Given the description of an element on the screen output the (x, y) to click on. 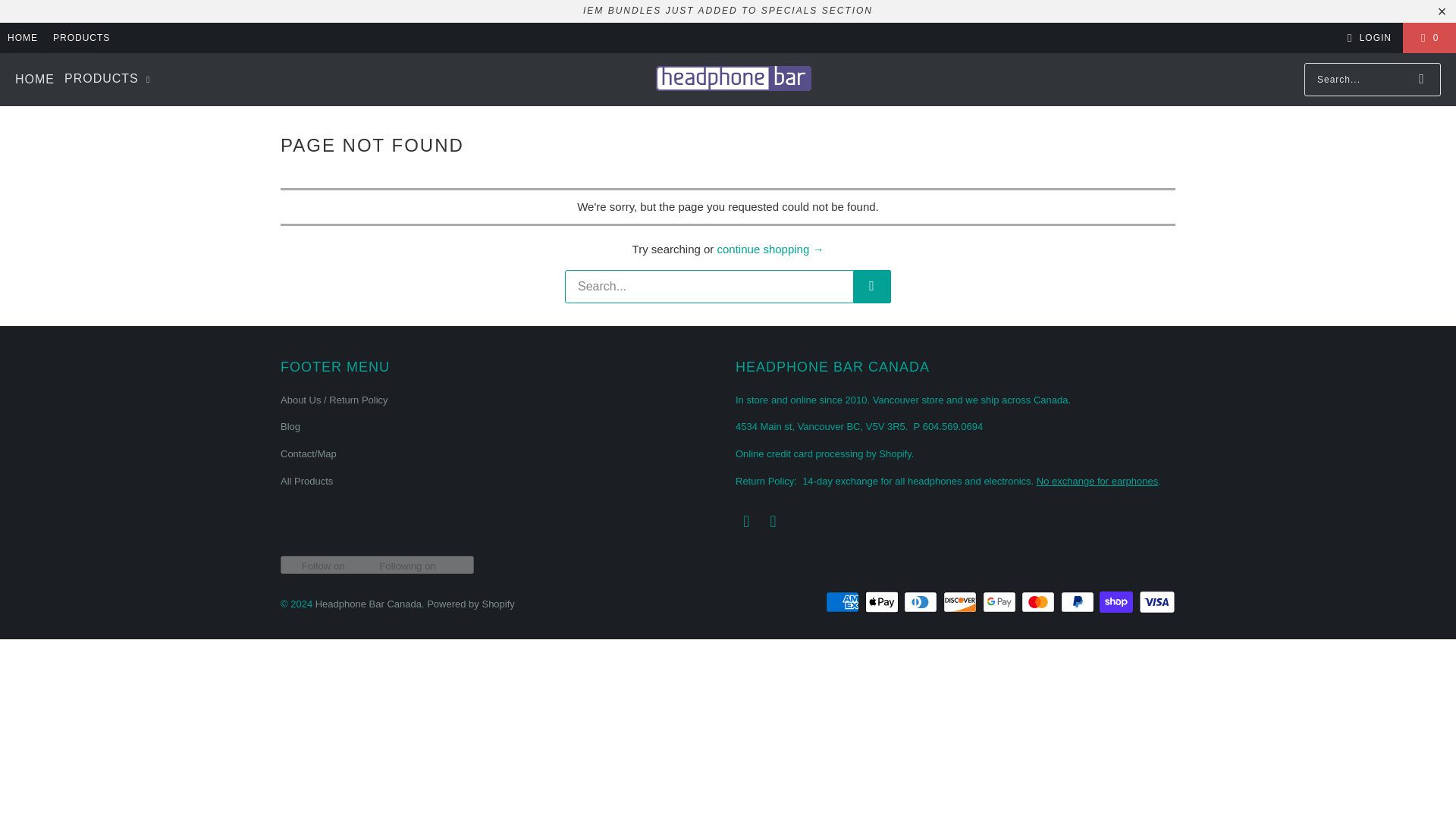
Headphone Bar Canada on Facebook (746, 521)
HOME (22, 37)
Apple Pay (882, 601)
My Account  (1366, 37)
PayPal (1079, 601)
American Express (843, 601)
Discover (961, 601)
Google Pay (1000, 601)
Shop Pay (1117, 601)
Diners Club (922, 601)
